Given the description of an element on the screen output the (x, y) to click on. 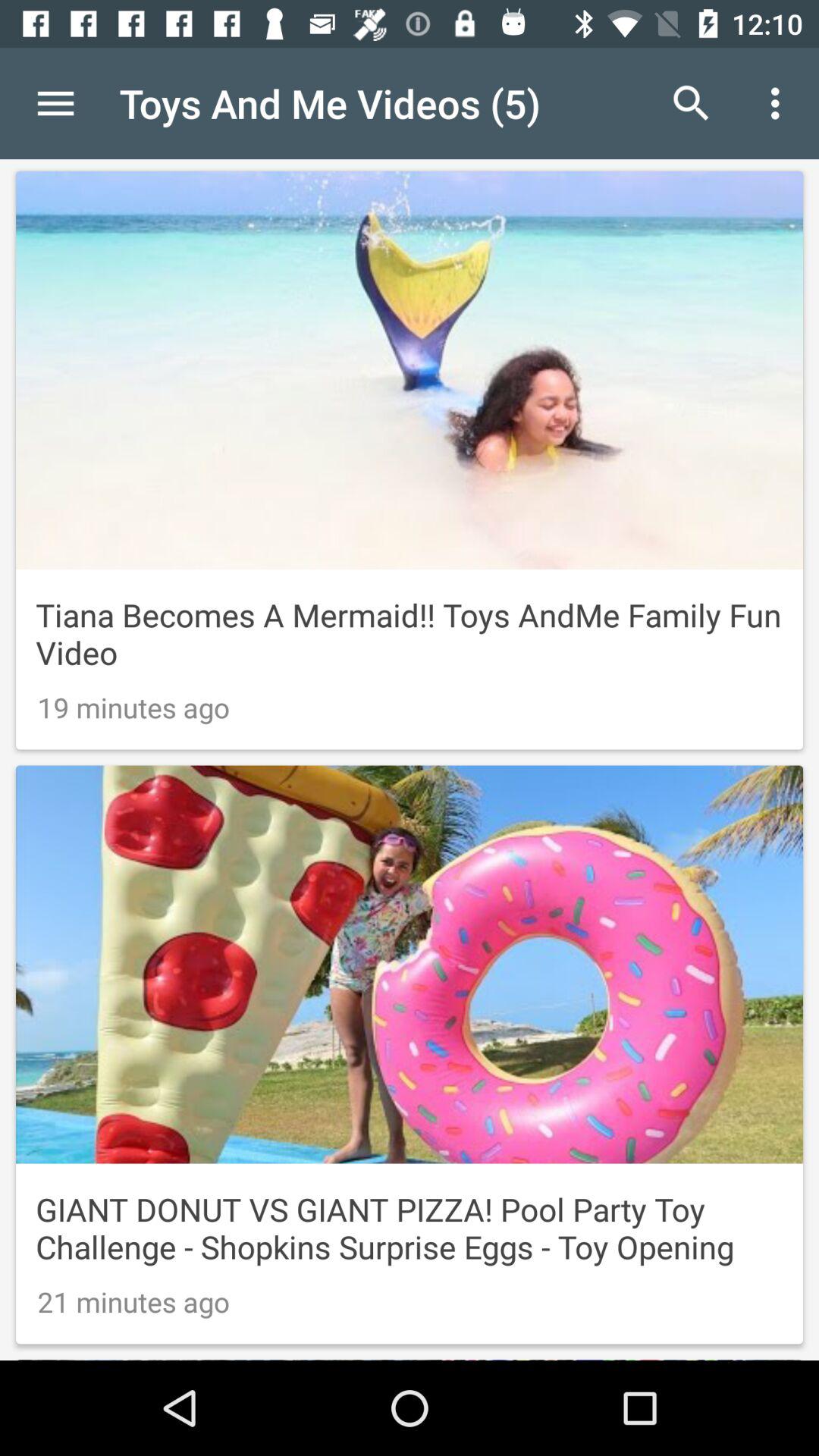
click icon to the left of toys and me item (55, 103)
